Given the description of an element on the screen output the (x, y) to click on. 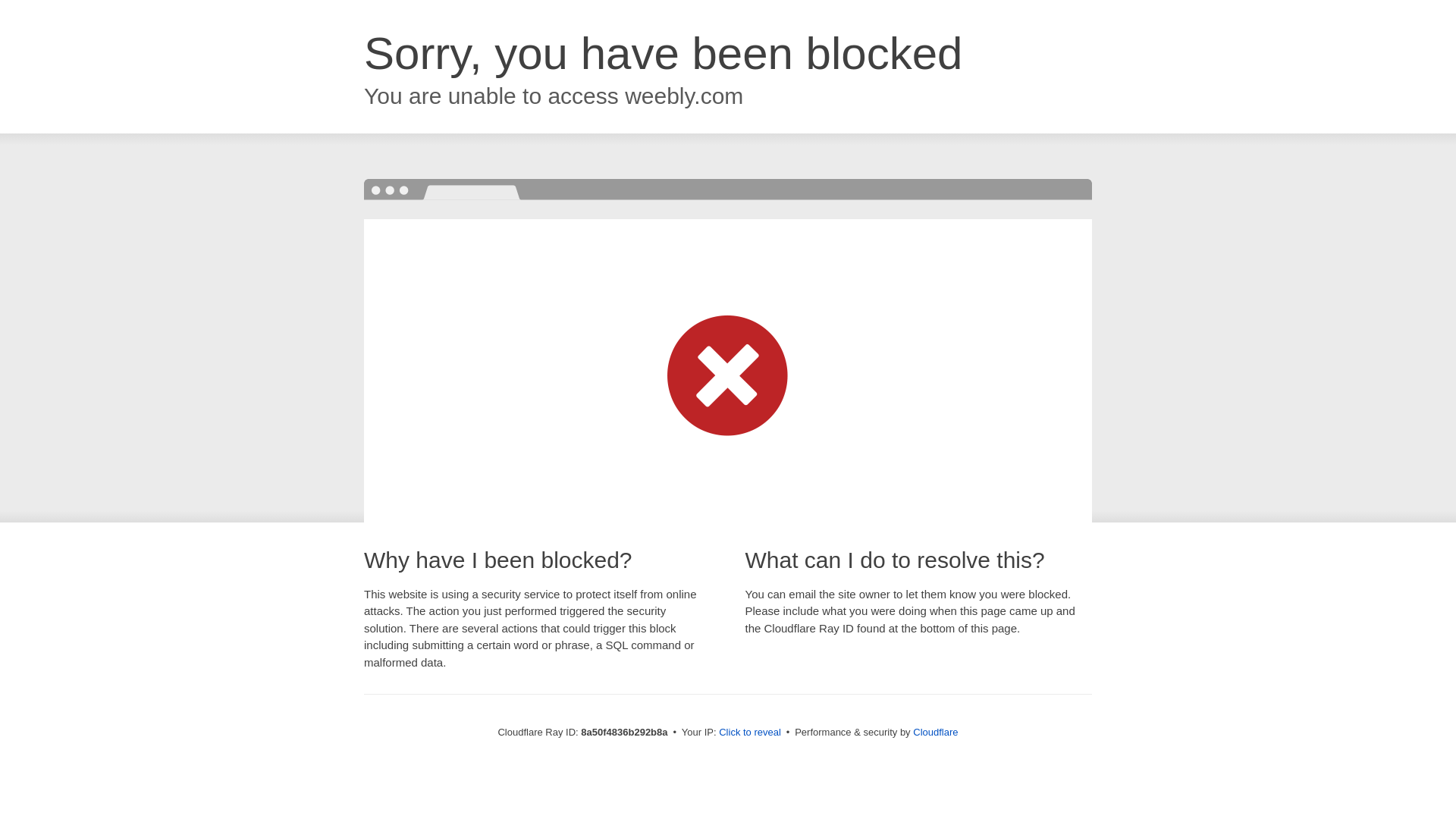
Cloudflare (935, 731)
Click to reveal (749, 732)
